Given the description of an element on the screen output the (x, y) to click on. 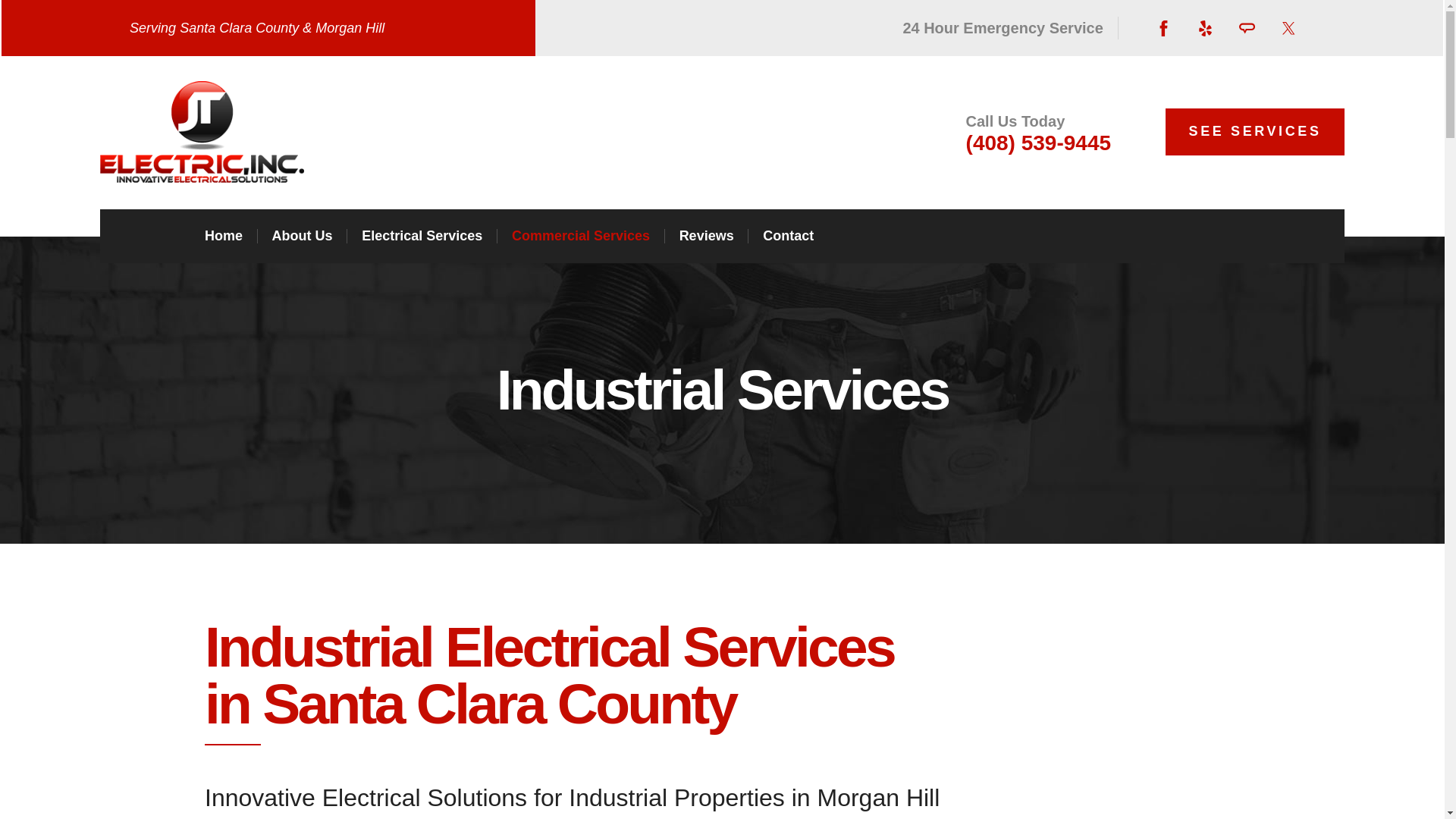
SEE SERVICES (1255, 131)
Angie's List (1246, 28)
Open the accessibility options menu (31, 786)
Contact (787, 236)
Yelp (1204, 28)
Search Our Site (1230, 236)
JT Electric (202, 131)
Commercial Services (580, 236)
Electrical Services (421, 236)
Home (224, 236)
About Us (302, 236)
Facebook (1162, 28)
Reviews (706, 236)
Twitter (1287, 28)
